Given the description of an element on the screen output the (x, y) to click on. 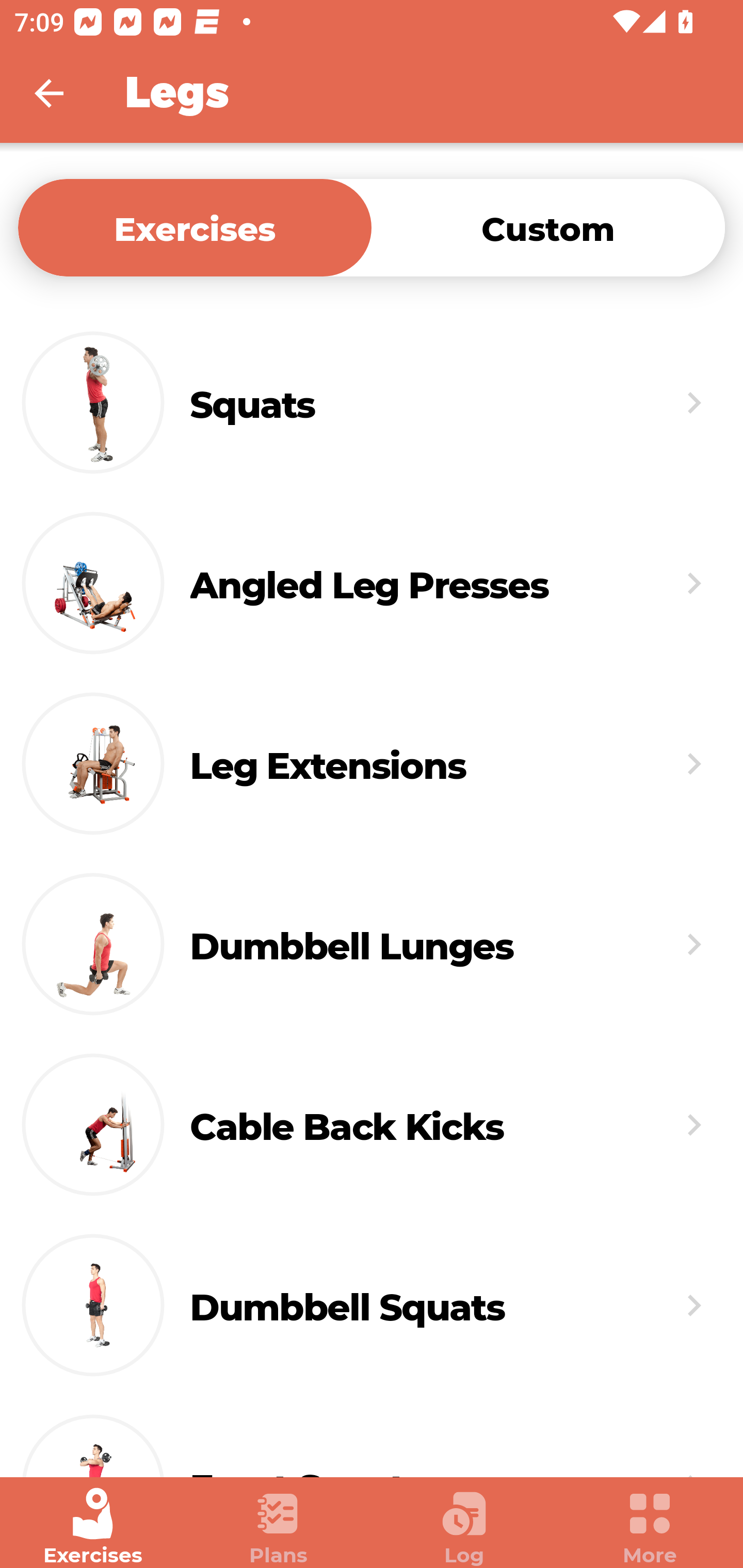
Back (62, 92)
Exercises (194, 226)
Custom (548, 226)
Exercises (92, 1527)
Plans (278, 1527)
Log (464, 1527)
More (650, 1527)
